Given the description of an element on the screen output the (x, y) to click on. 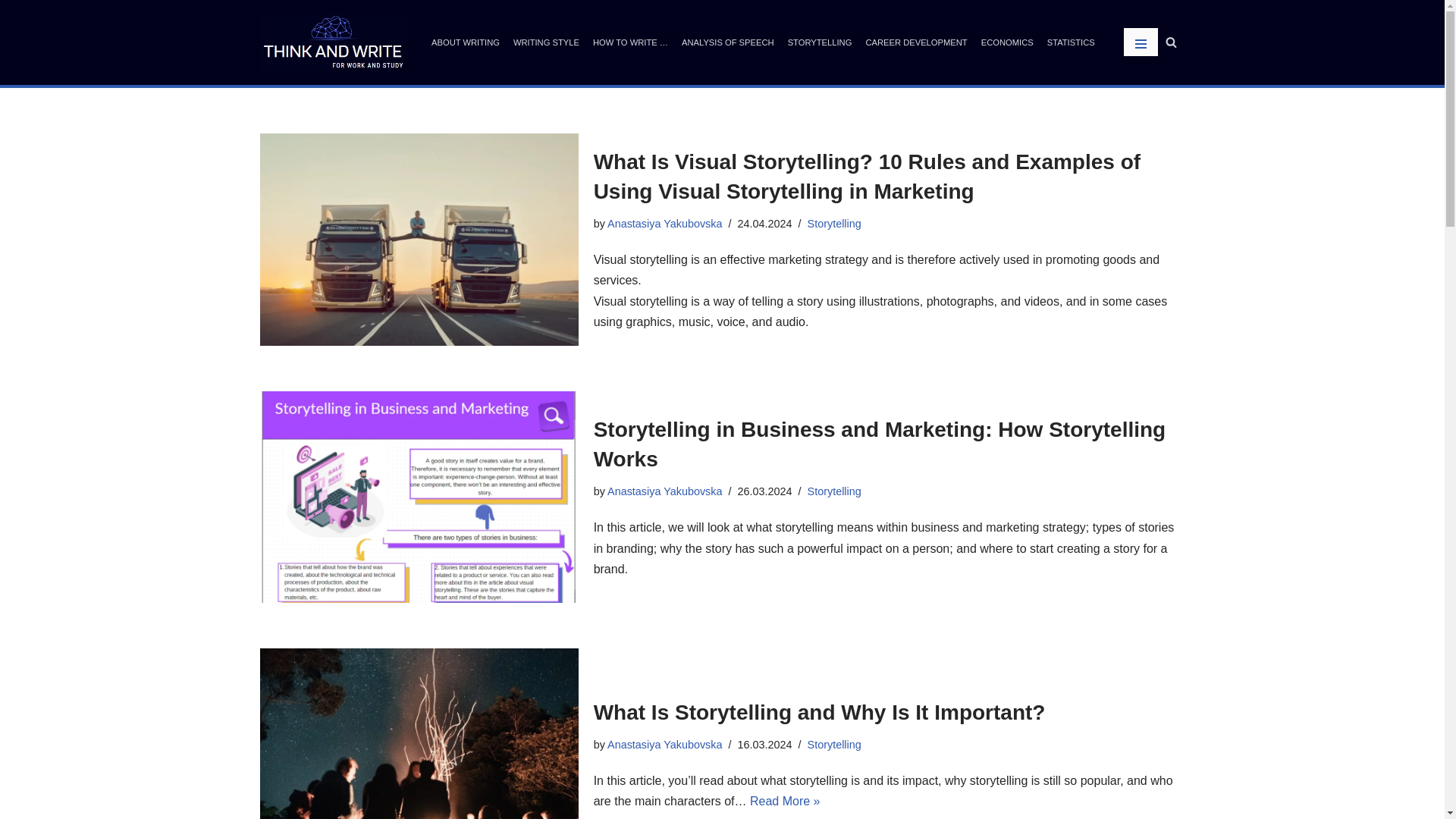
What Is Storytelling and Why Is It Important? (419, 733)
WRITING STYLE (546, 41)
Anastasiya Yakubovska (664, 744)
Navigation Menu (1140, 41)
STORYTELLING (819, 41)
ANALYSIS OF SPEECH (727, 41)
What Is Storytelling and Why Is It Important? (819, 712)
Posts by Anastasiya Yakubovska (664, 744)
Posts by Anastasiya Yakubovska (664, 223)
Storytelling (834, 491)
Skip to content (11, 31)
ABOUT WRITING (464, 41)
